Given the description of an element on the screen output the (x, y) to click on. 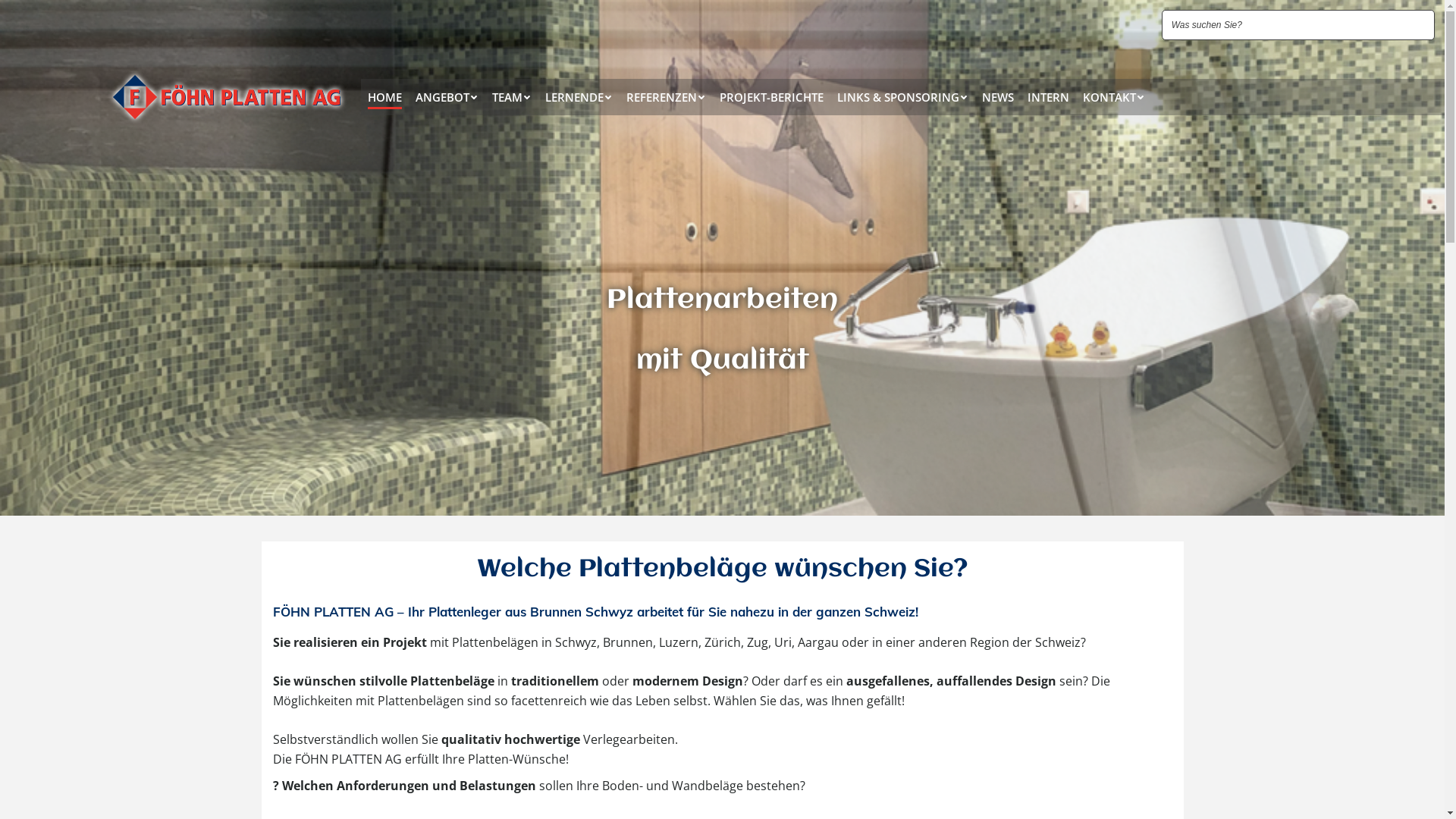
NEWS Element type: text (997, 97)
LINKS & SPONSORING Element type: text (902, 97)
REFERENZEN Element type: text (666, 97)
KONTAKT Element type: text (1113, 97)
HOME Element type: text (384, 97)
TEAM Element type: text (511, 97)
ANGEBOT Element type: text (446, 97)
PROJEKT-BERICHTE Element type: text (771, 97)
LERNENDE Element type: text (578, 97)
INTERN Element type: text (1048, 97)
